Given the description of an element on the screen output the (x, y) to click on. 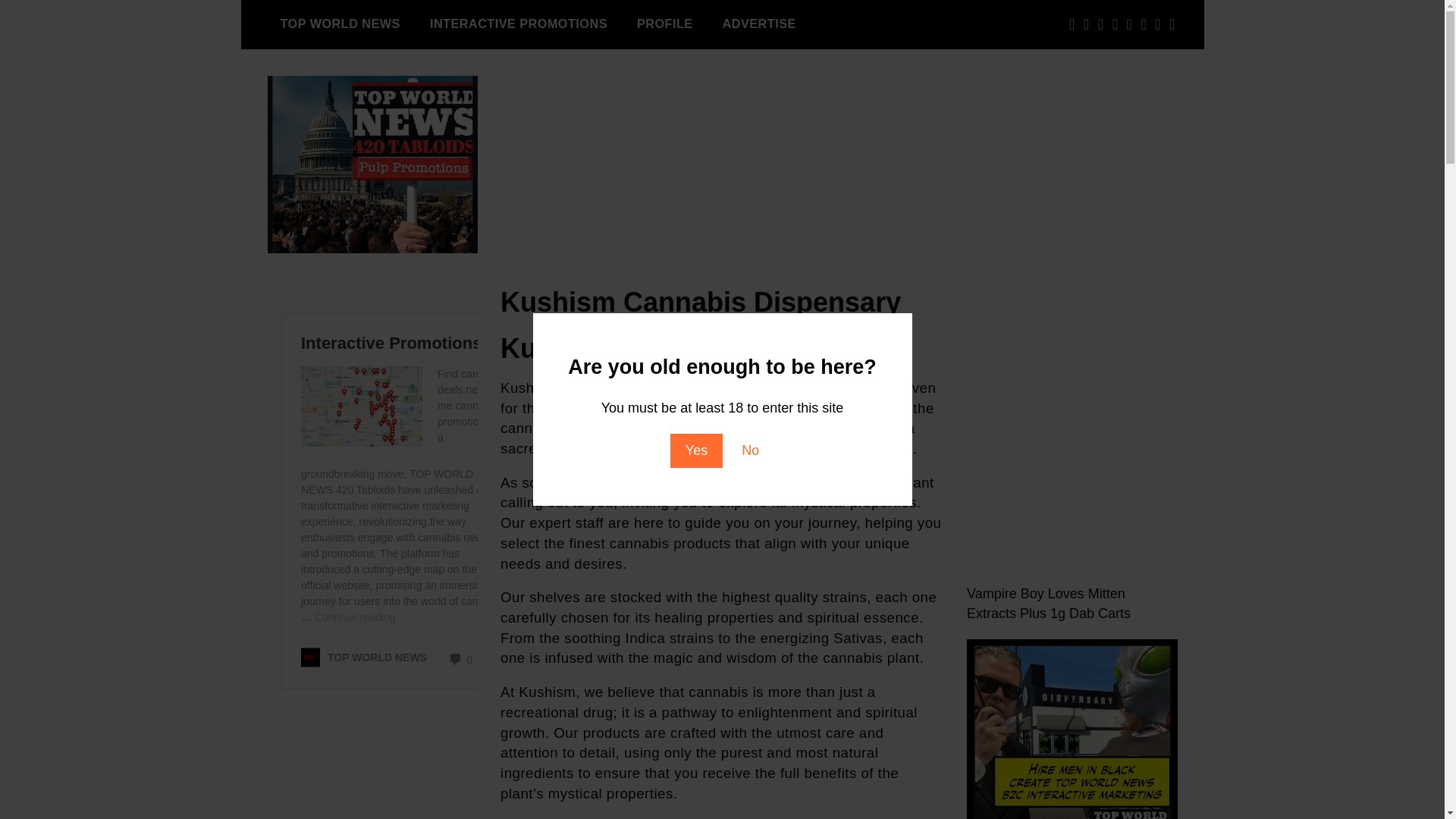
PROFILE (665, 23)
Yes (695, 451)
No (750, 451)
ADVERTISE (759, 23)
INTERACTIVE PROMOTIONS (518, 23)
TOP WORLD NEWS (350, 297)
TOP WORLD NEWS (338, 23)
